Given the description of an element on the screen output the (x, y) to click on. 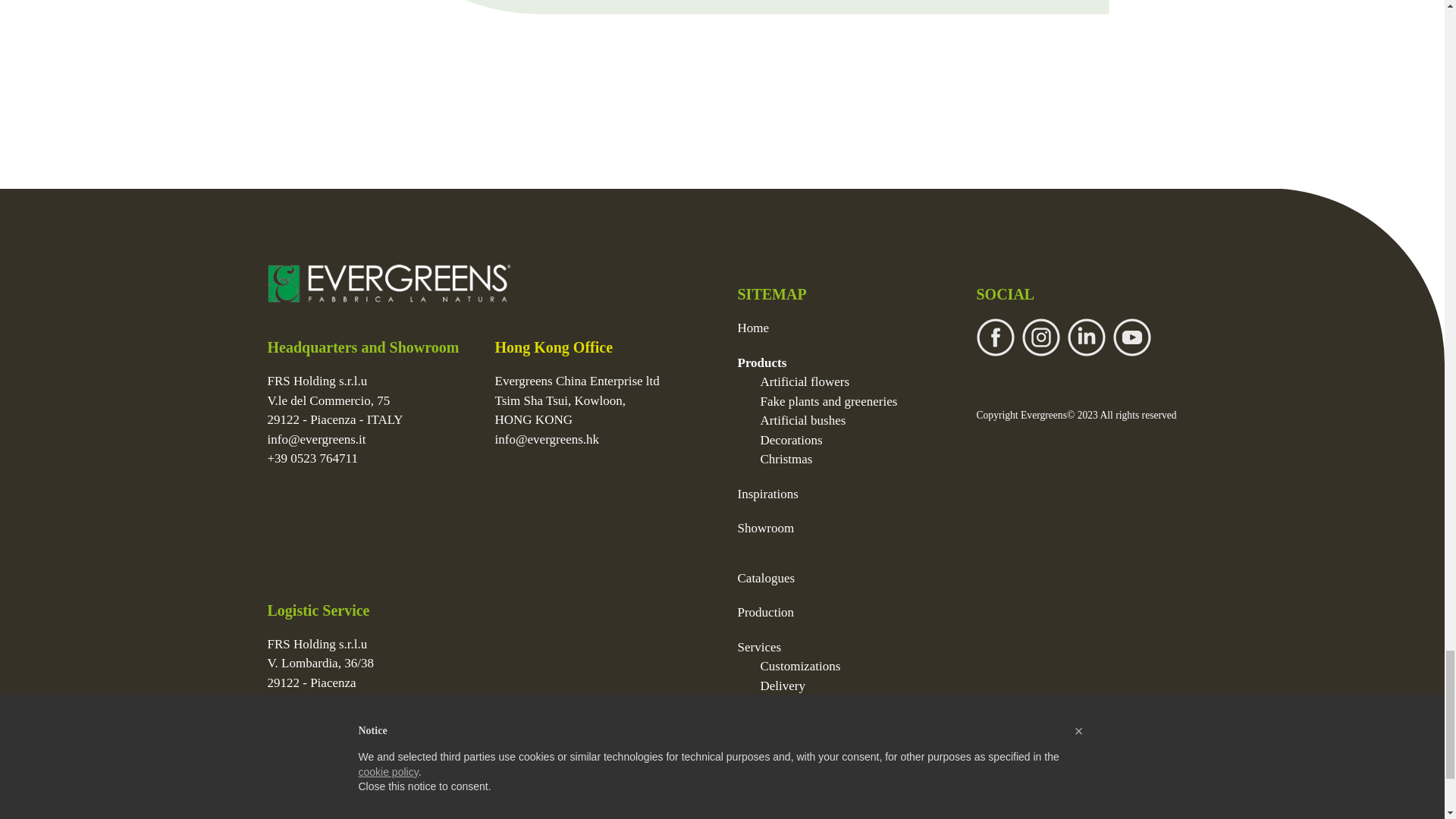
Catalogues (765, 577)
Inspirations (766, 493)
Production (764, 612)
Customizations (800, 666)
Privacy Policy  (301, 764)
Services (758, 646)
Cookie Policy  (372, 764)
